Given the description of an element on the screen output the (x, y) to click on. 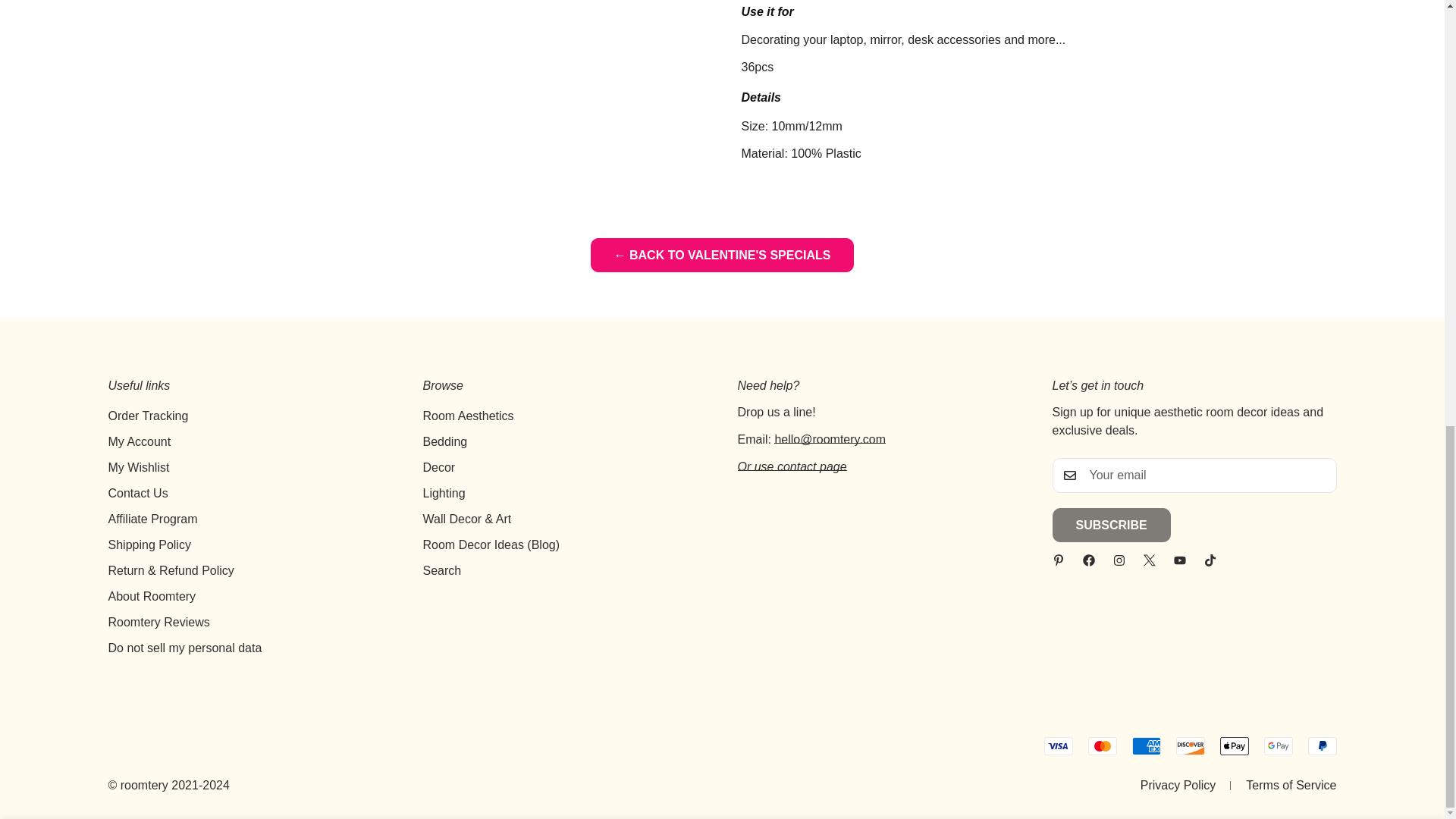
Contact roomtery by email (829, 439)
Contact us (790, 466)
